Given the description of an element on the screen output the (x, y) to click on. 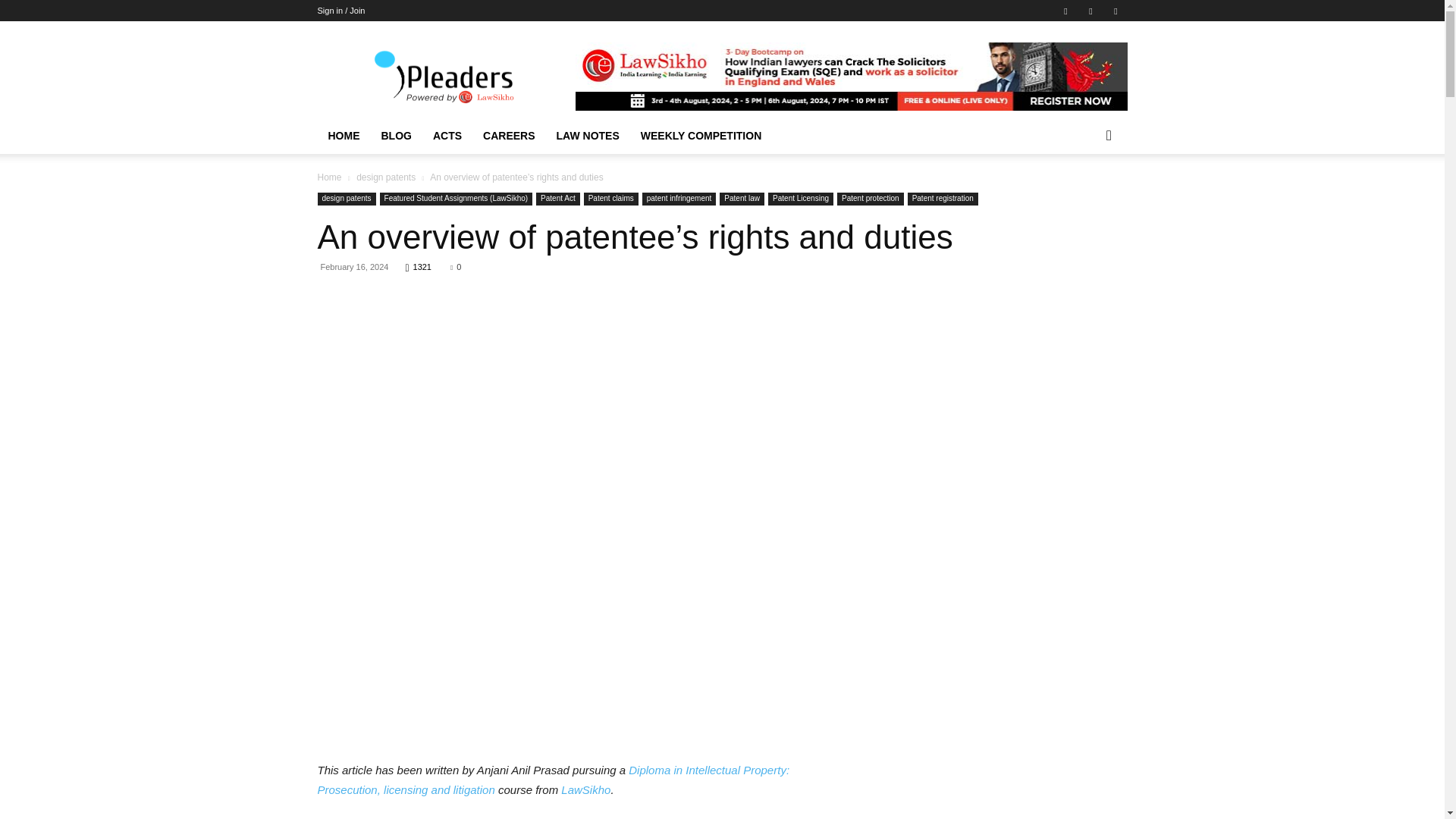
Twitter (1114, 10)
Facebook (1065, 10)
RSS (1090, 10)
View all posts in design patents (385, 176)
